Given the description of an element on the screen output the (x, y) to click on. 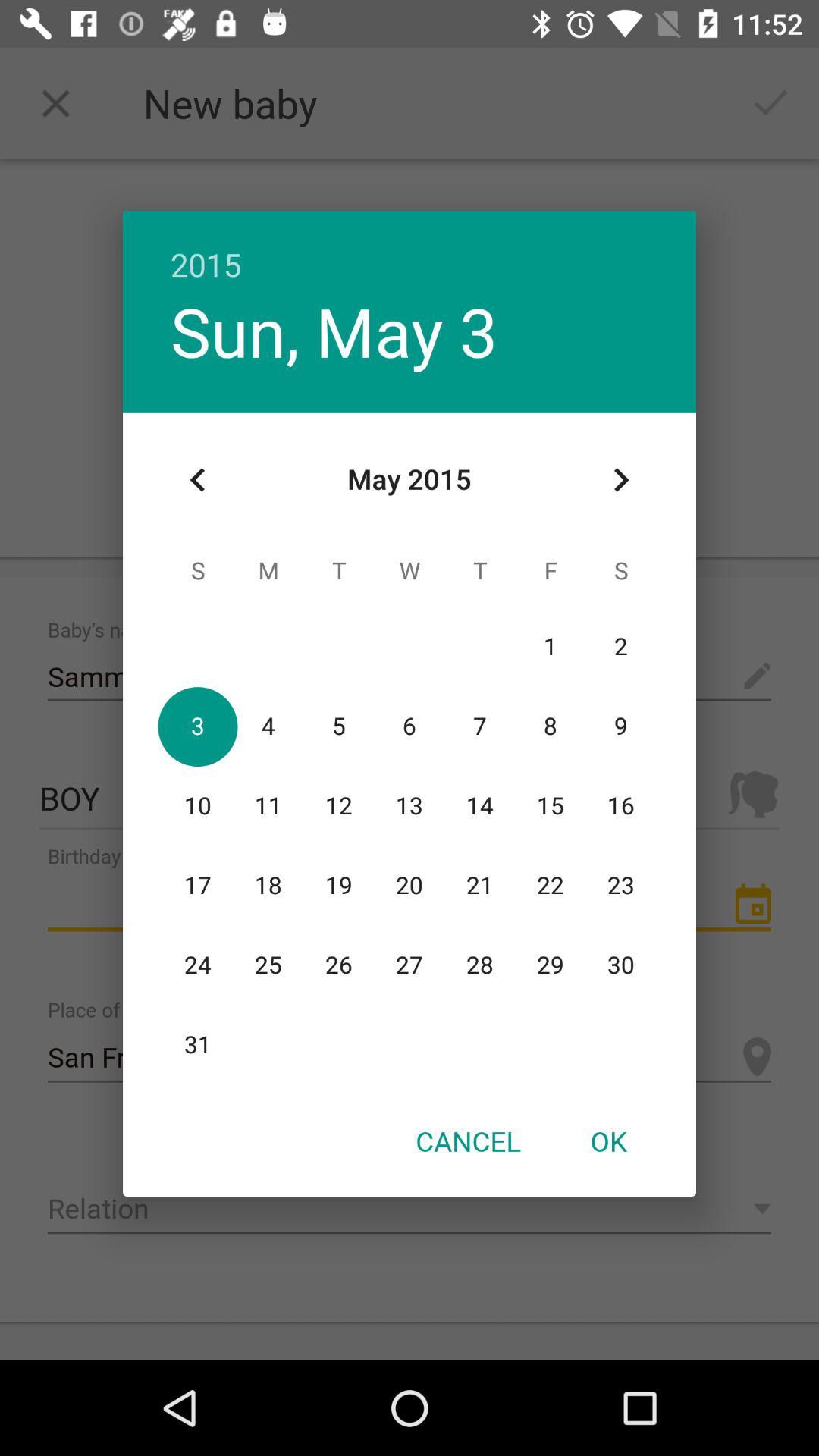
click item next to ok item (467, 1140)
